Given the description of an element on the screen output the (x, y) to click on. 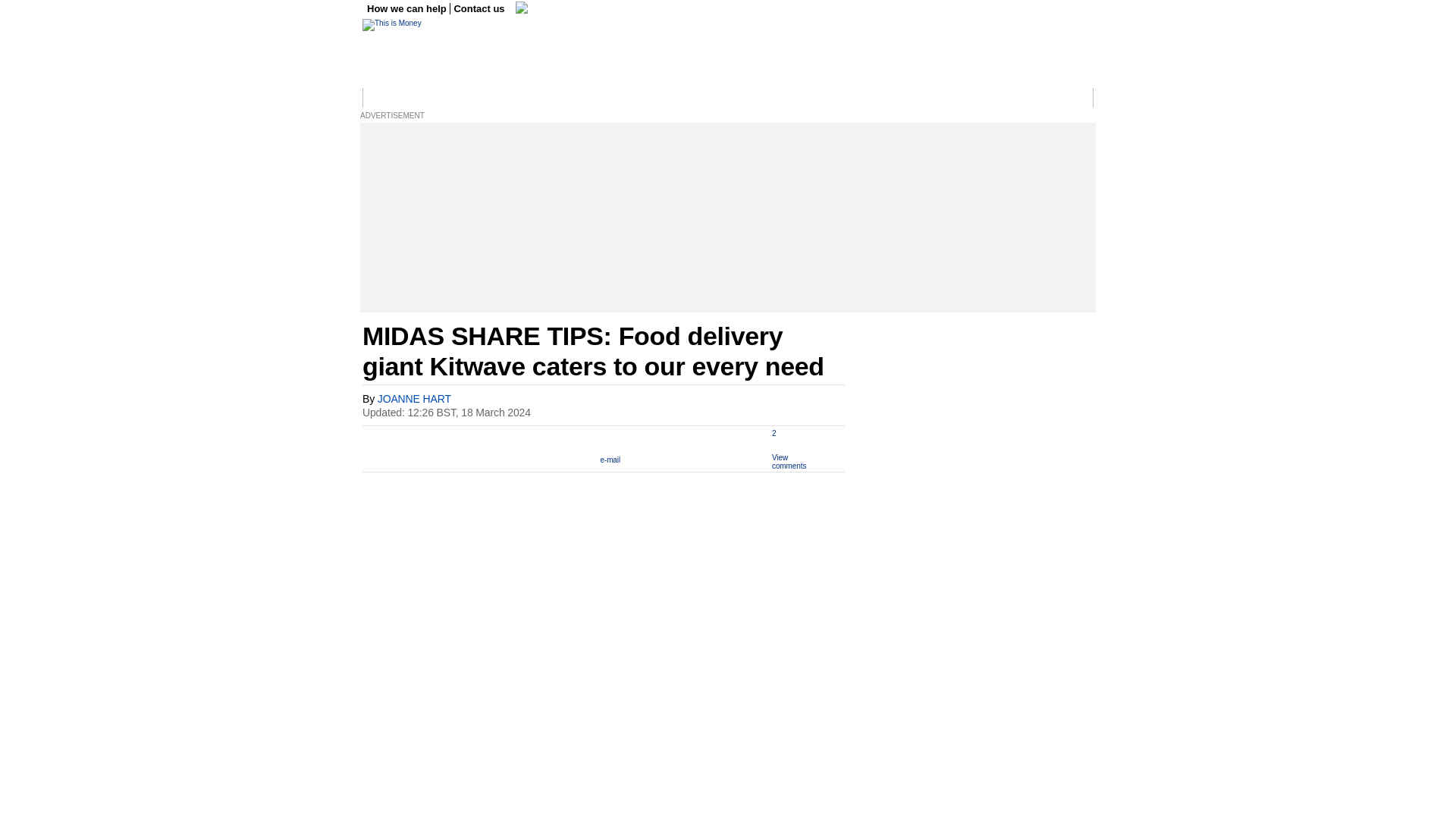
How we can help (407, 8)
Investing (582, 97)
Buy-to-let (925, 97)
Business (450, 97)
Contact us (479, 8)
Cars (714, 97)
Pensions (822, 97)
Login (1075, 97)
Money Home (395, 97)
Mortgages (873, 97)
